Given the description of an element on the screen output the (x, y) to click on. 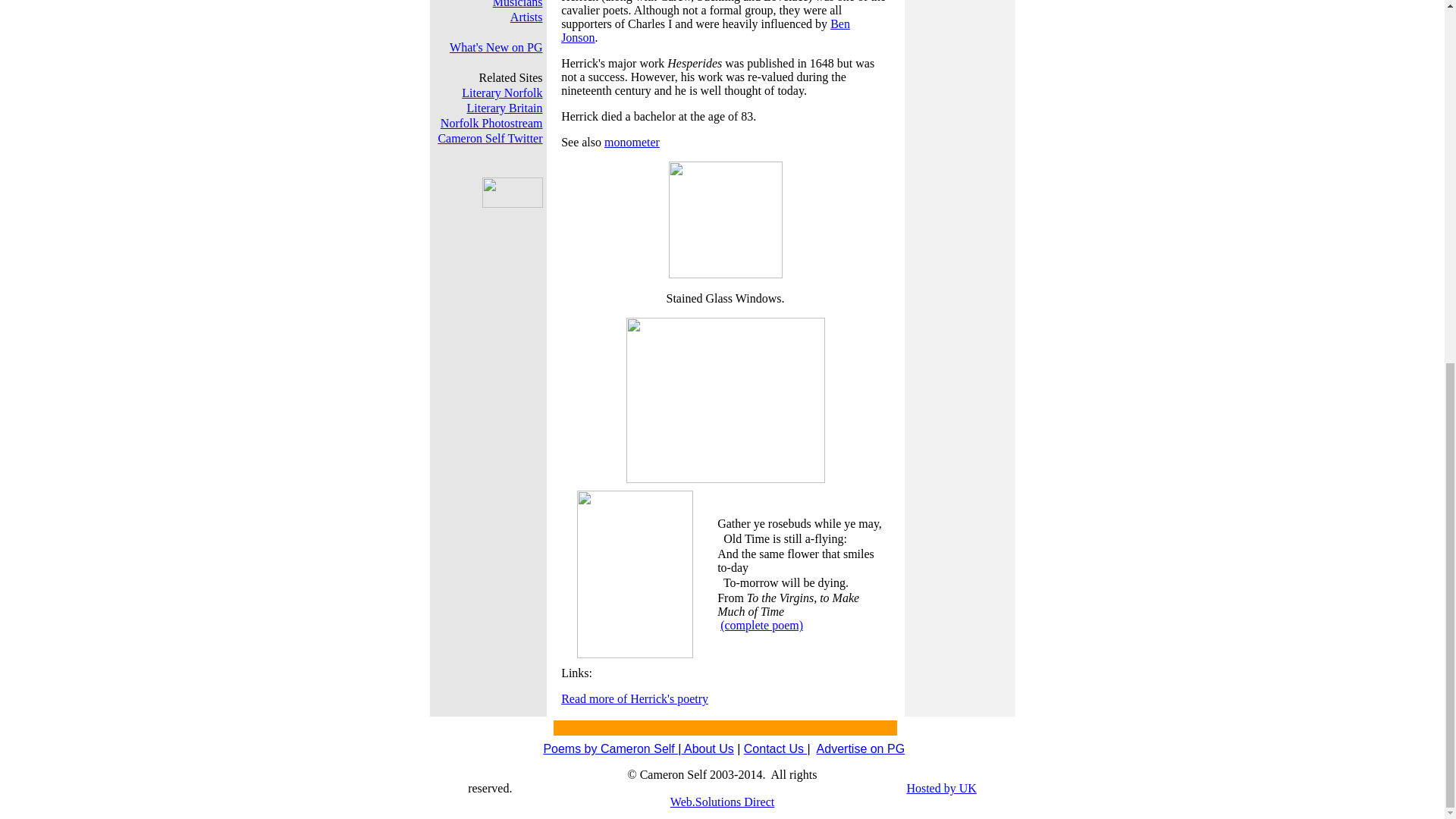
Norfolk Photostream (492, 123)
Artists (527, 16)
Literary Norfolk (501, 92)
Hosted by UK Web.Solutions Direct (822, 795)
Poems by Cameron Self (610, 748)
Musicians (518, 4)
Hosted by UK Web.Solutions Direct (822, 795)
Literary Britain (505, 107)
About Us (707, 748)
Cameron Self Twitter (489, 137)
monometer (631, 141)
What's New on PG (495, 47)
Ben Jonson (705, 30)
Read more of Herrick's poetry (633, 698)
Advertise on PG (860, 748)
